Given the description of an element on the screen output the (x, y) to click on. 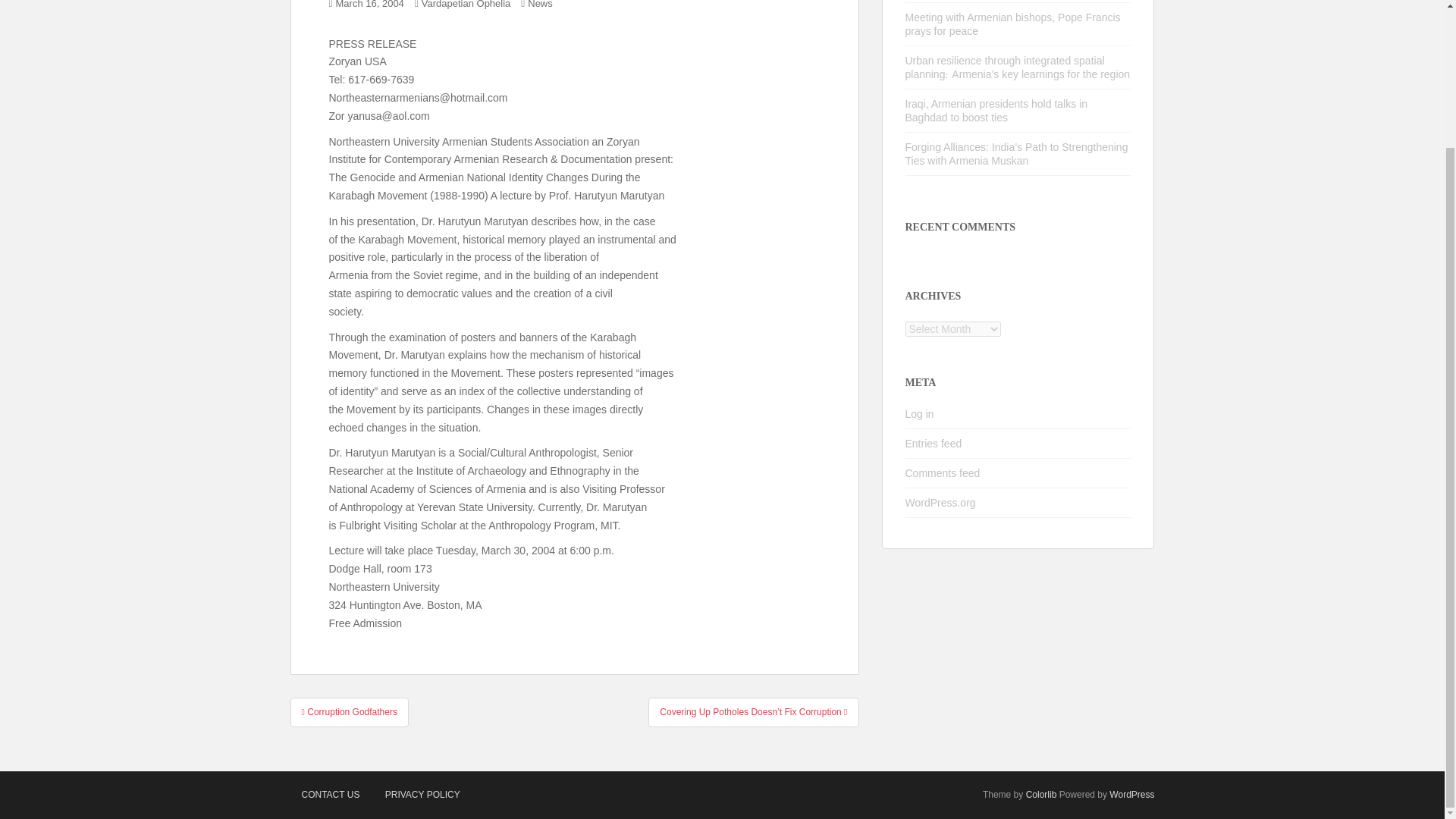
News (540, 4)
Vardapetian Ophelia (466, 4)
Colorlib (1041, 794)
March 16, 2004 (370, 4)
Comments feed (942, 472)
CONTACT US (330, 794)
WordPress (1131, 794)
Corruption Godfathers (348, 711)
Log in (919, 413)
